Given the description of an element on the screen output the (x, y) to click on. 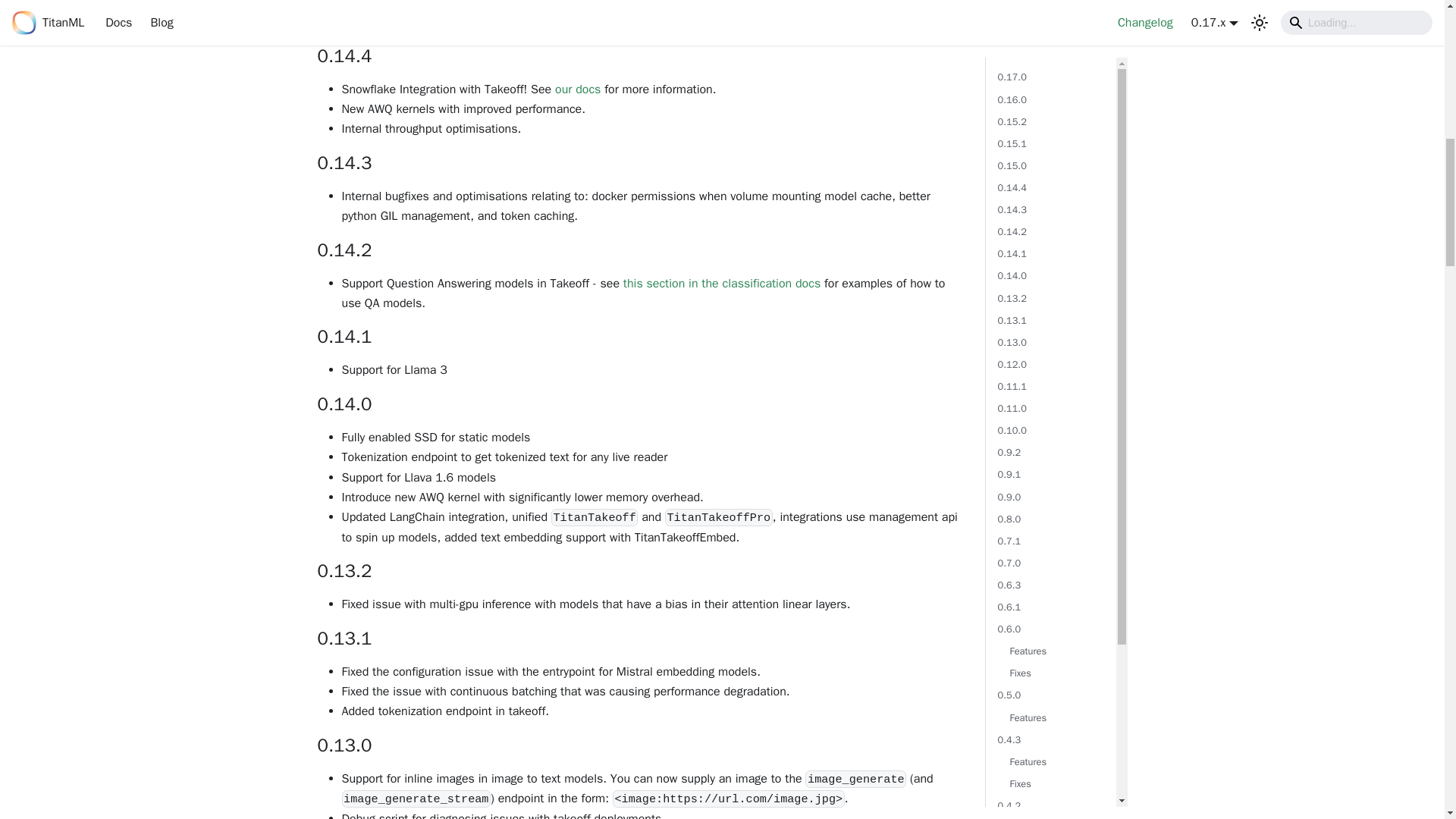
our docs (576, 89)
this section in the classification docs (722, 283)
